Given the description of an element on the screen output the (x, y) to click on. 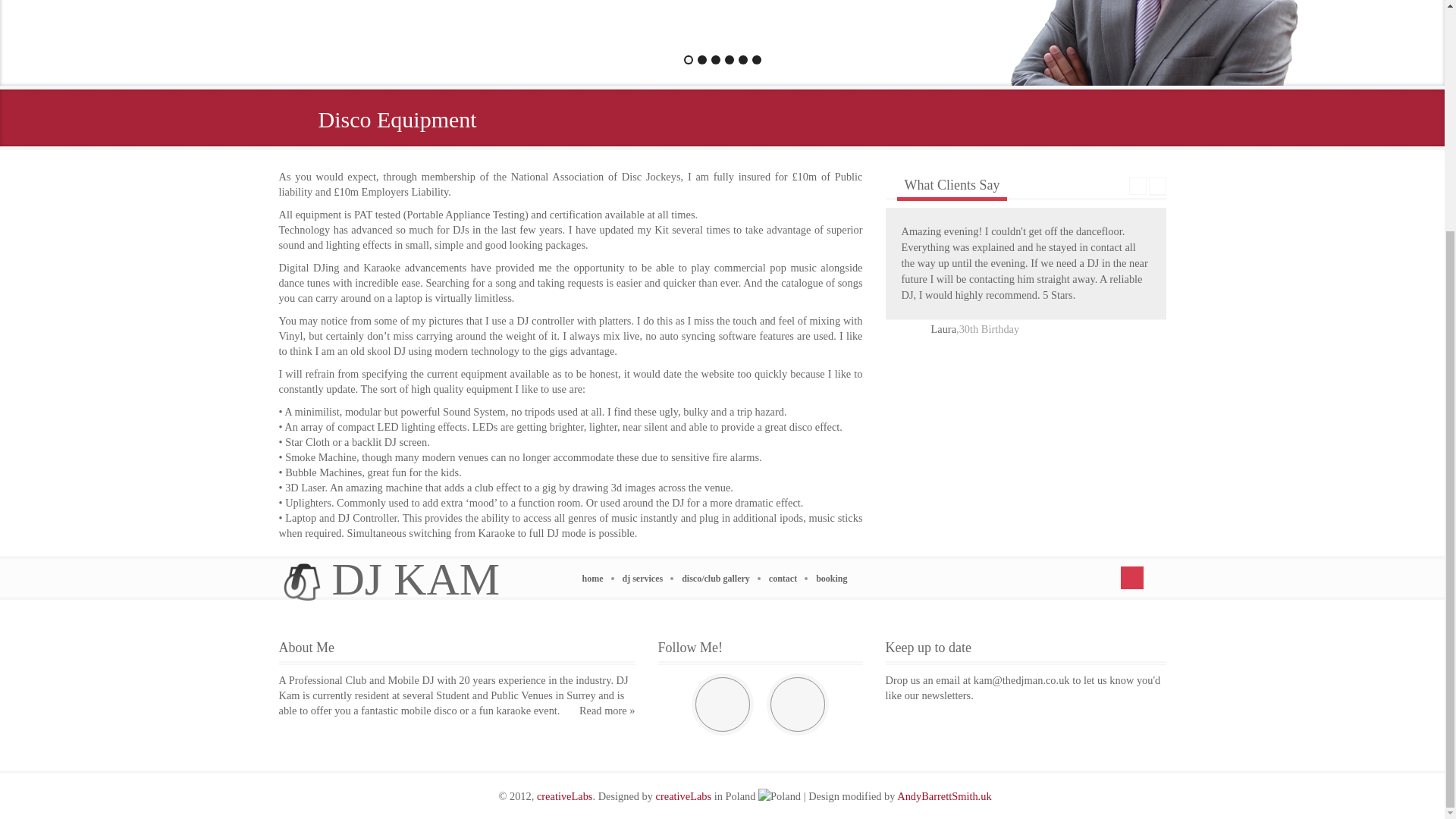
home (598, 578)
dj services (647, 578)
contact (788, 578)
DJ KAM (390, 579)
creativeLabs (564, 796)
AndyBarrettSmith.uk (943, 796)
creativeLabs (683, 796)
booking (837, 578)
